Given the description of an element on the screen output the (x, y) to click on. 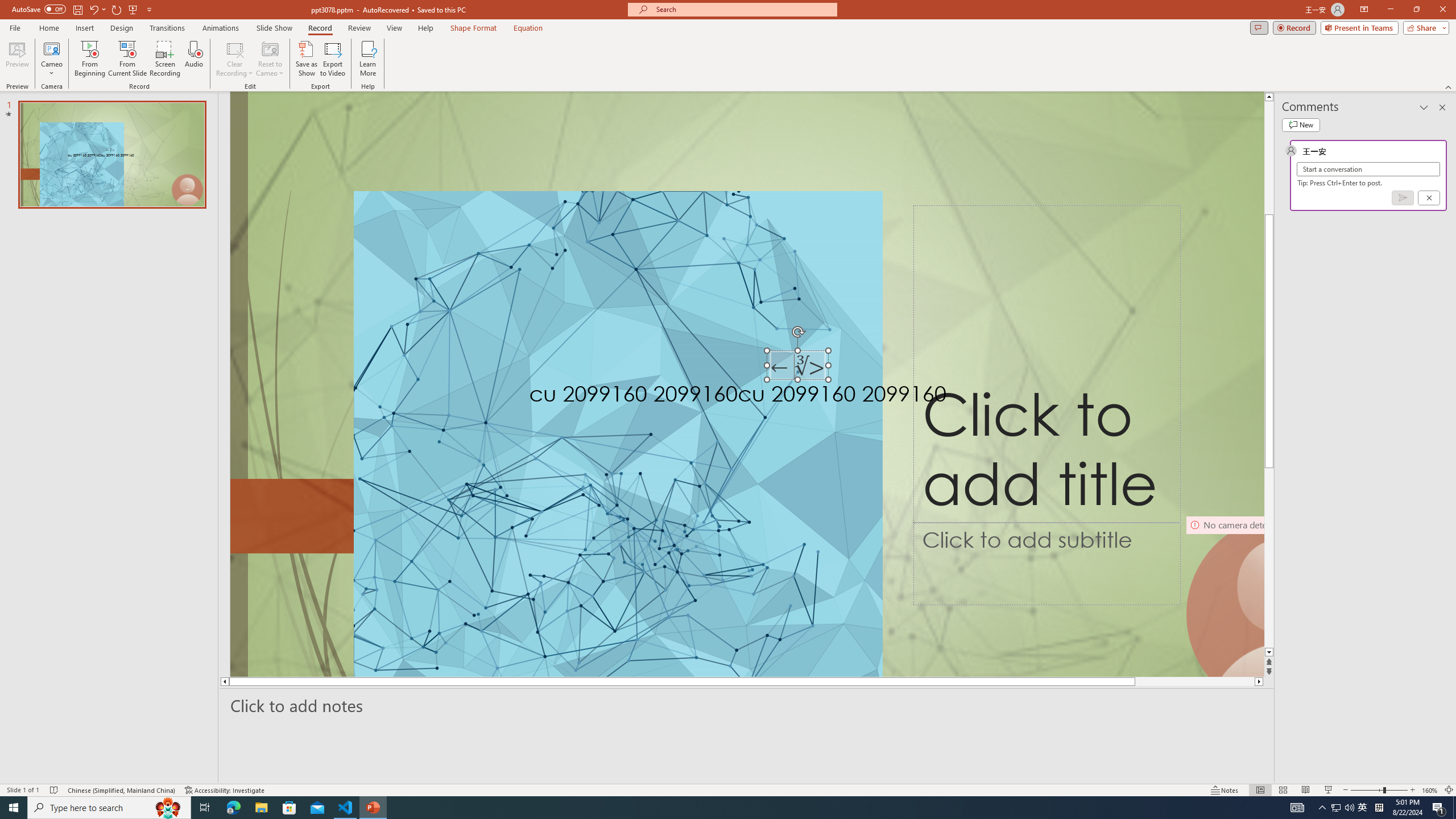
Cameo (51, 48)
Zoom 160% (1430, 790)
Audio (193, 58)
Clear Recording (234, 58)
Screen Recording (165, 58)
Camera 9, No camera detected. (1224, 595)
Learn More (368, 58)
